Given the description of an element on the screen output the (x, y) to click on. 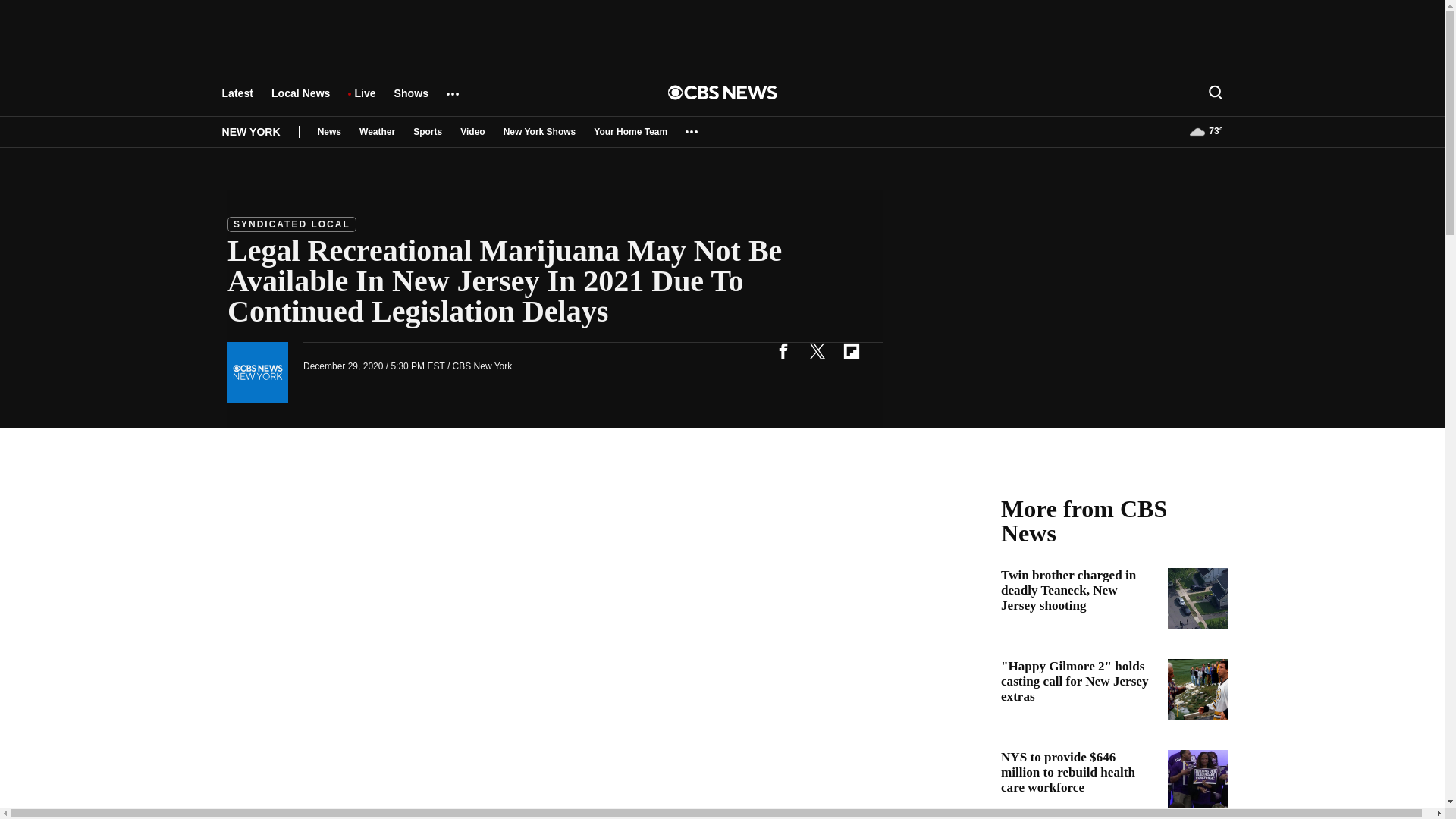
Latest (236, 100)
twitter (816, 350)
flipboard (850, 350)
Local News (300, 100)
facebook (782, 350)
